Given the description of an element on the screen output the (x, y) to click on. 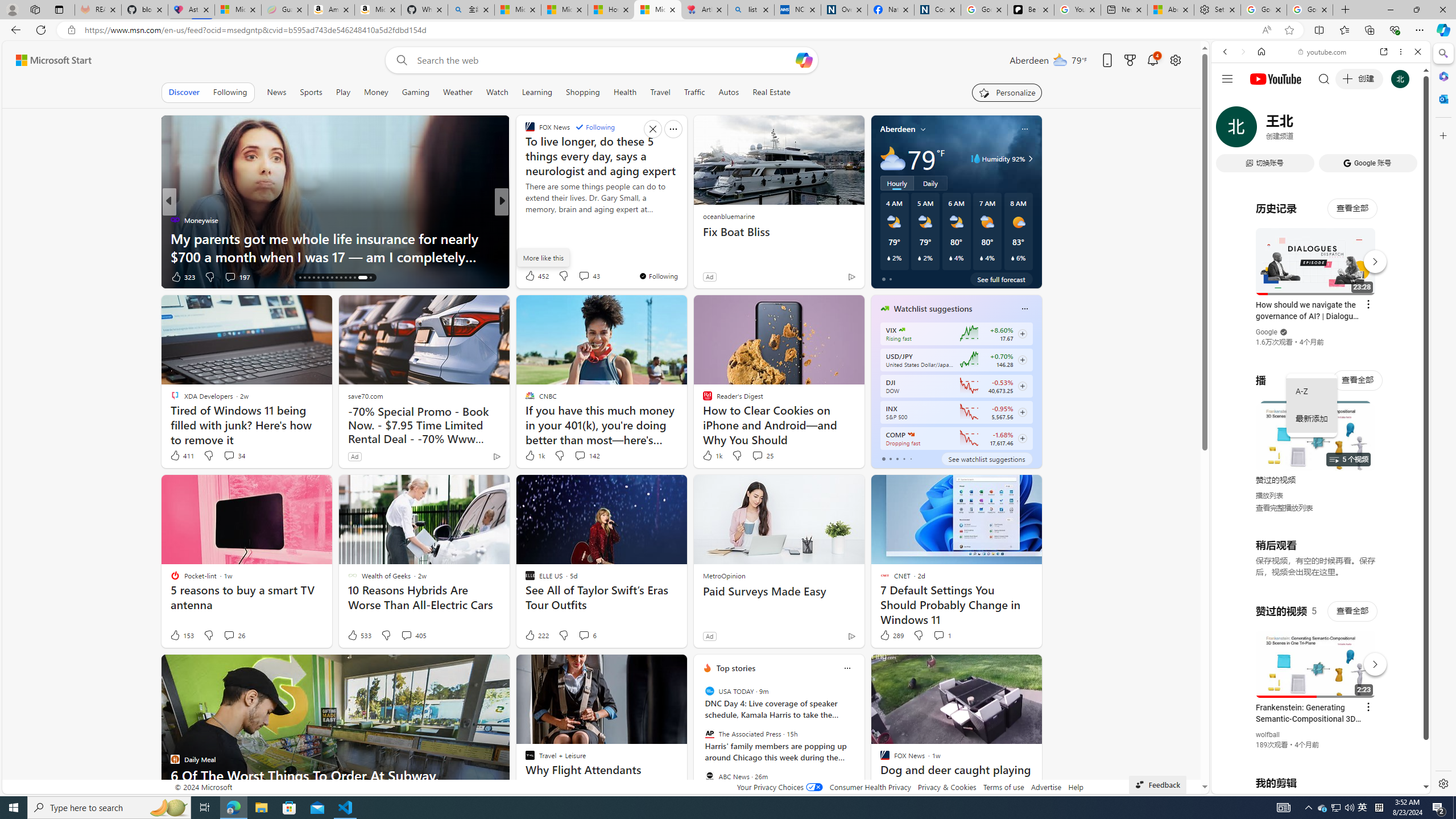
Show More Music (1390, 310)
Be Smart | creating Science videos | Patreon (1030, 9)
Search videos from youtube.com (1299, 373)
US[ju] (1249, 785)
My location (922, 128)
tab-1 (889, 458)
Search Filter, VIDEOS (1300, 129)
Health (624, 92)
